Given the description of an element on the screen output the (x, y) to click on. 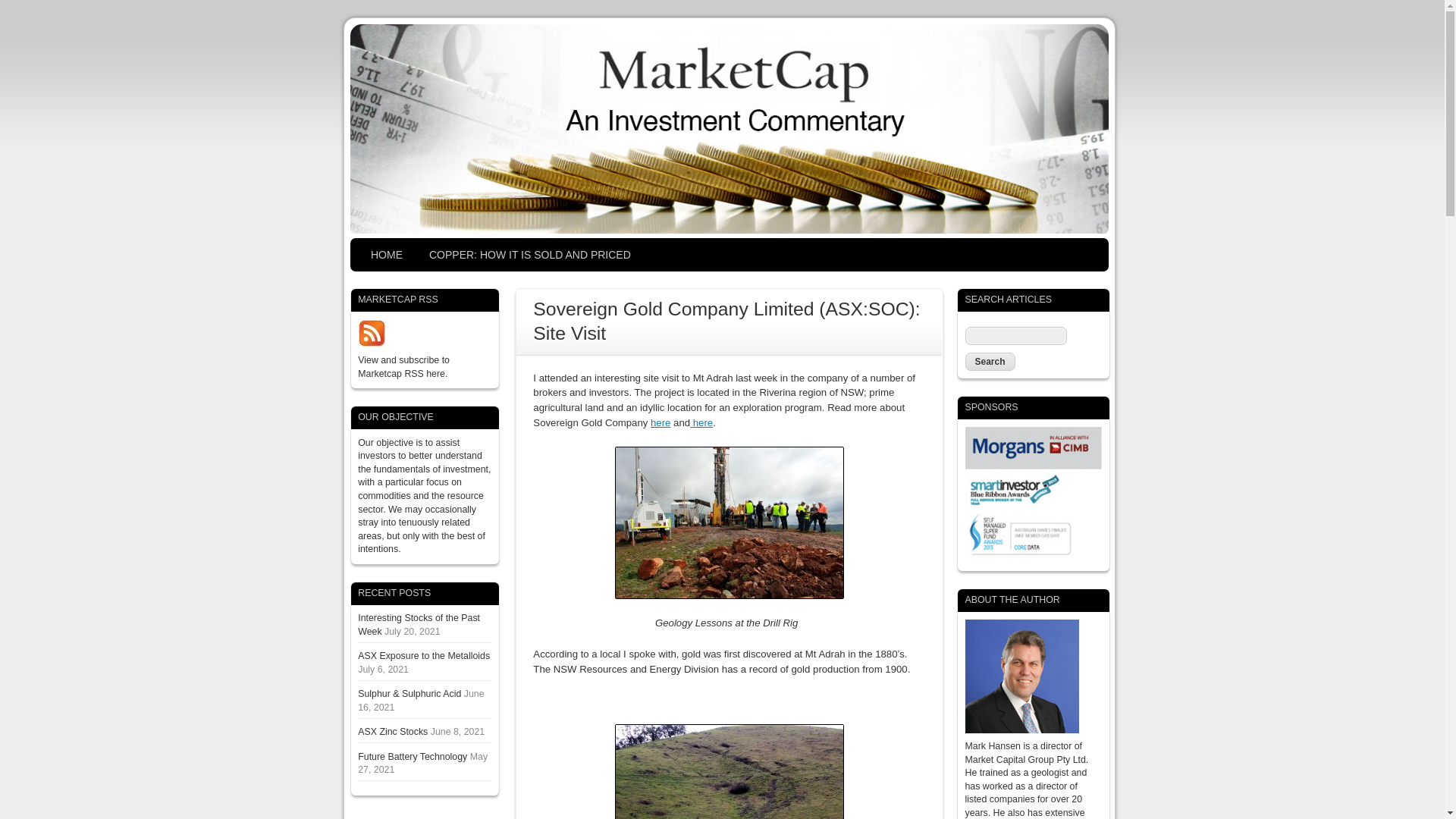
Interesting Stocks of the Past Week Element type: text (418, 624)
ASX Exposure to the Metalloids Element type: text (423, 655)
MarketCap Element type: hover (729, 230)
Sulphur & Sulphuric Acid Element type: text (409, 693)
here Element type: text (701, 422)
View and subscribe to Marketcap RSS here. Element type: text (403, 366)
COPPER: HOW IT IS SOLD AND PRICED Element type: text (529, 254)
here Element type: text (660, 422)
Search Element type: text (989, 361)
Future Battery Technology Element type: text (412, 756)
HOME Element type: text (386, 254)
ASX Zinc Stocks Element type: text (392, 731)
